Given the description of an element on the screen output the (x, y) to click on. 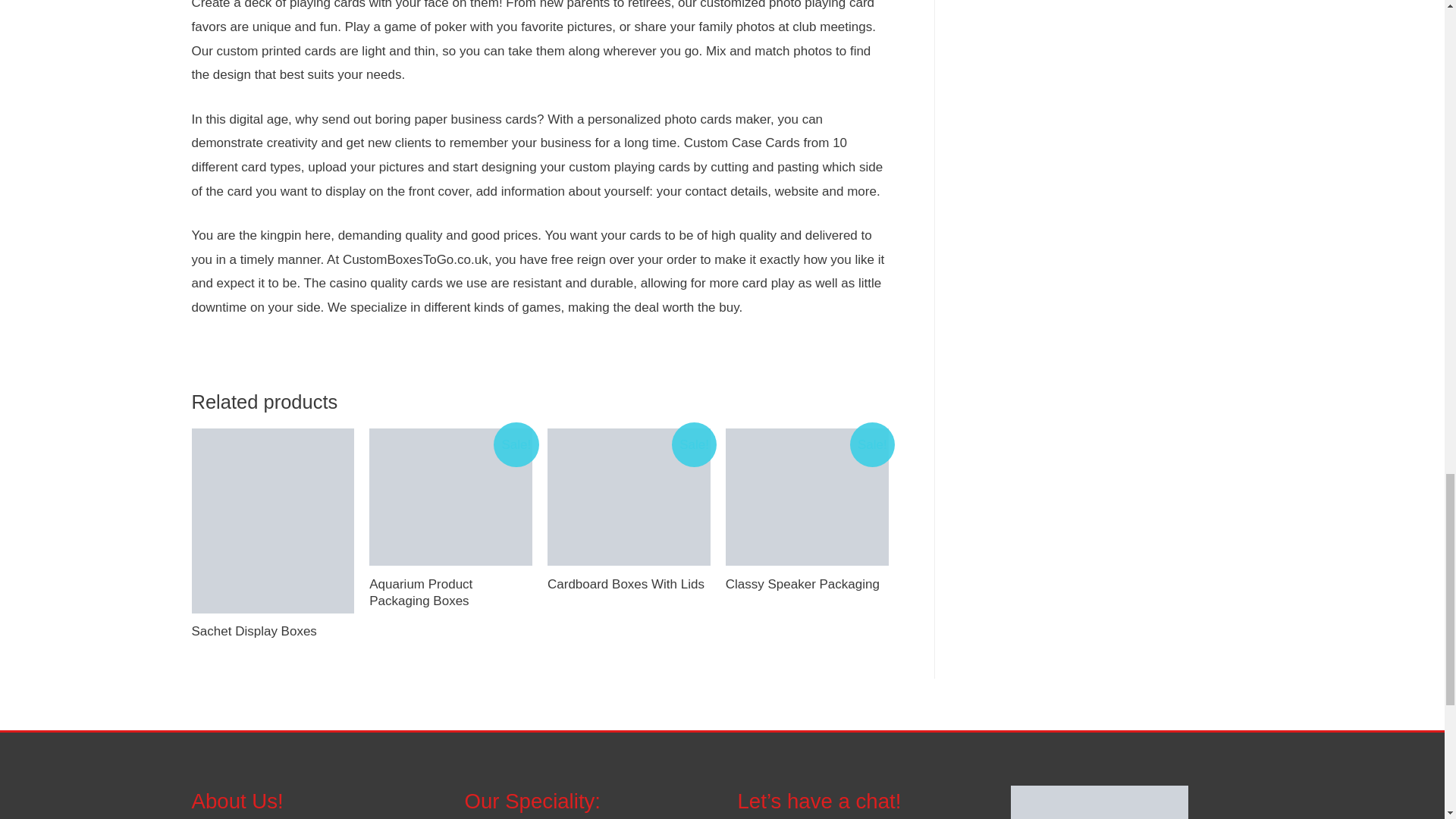
Classy Speaker Packaging (806, 584)
Aquarium Product Packaging Boxes (450, 592)
Cardboard Boxes With Lids (628, 584)
Sachet Display Boxes (271, 631)
